Given the description of an element on the screen output the (x, y) to click on. 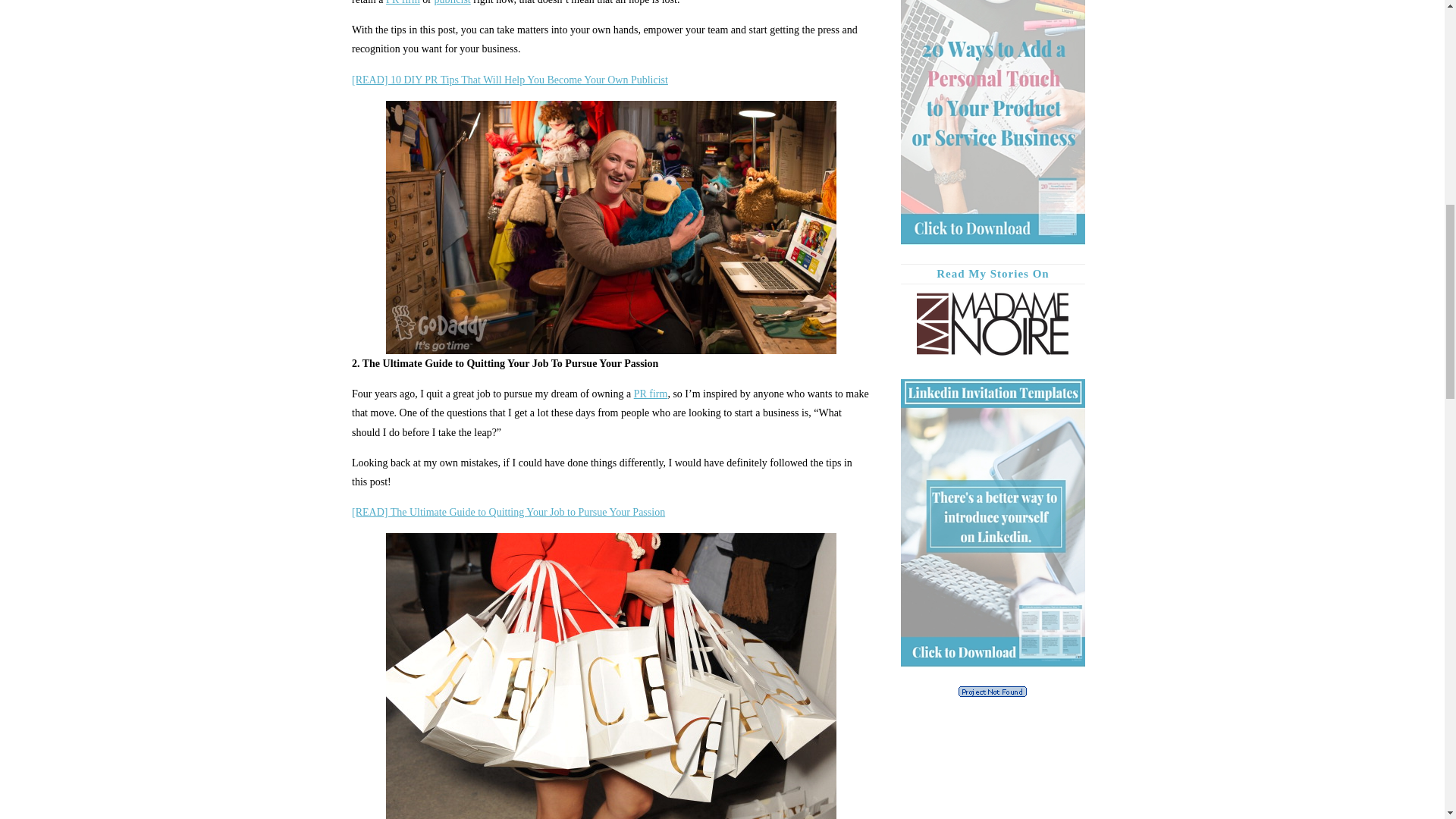
PR firm (402, 2)
PR firm (650, 393)
House of Success (402, 2)
publicist (451, 2)
wordpress analytics (992, 692)
10 DIY PR Tips That Will Help You Become Your Own Publicist (510, 79)
Sakita Holley - Founder, House of Success (451, 2)
House of Success (650, 393)
